Given the description of an element on the screen output the (x, y) to click on. 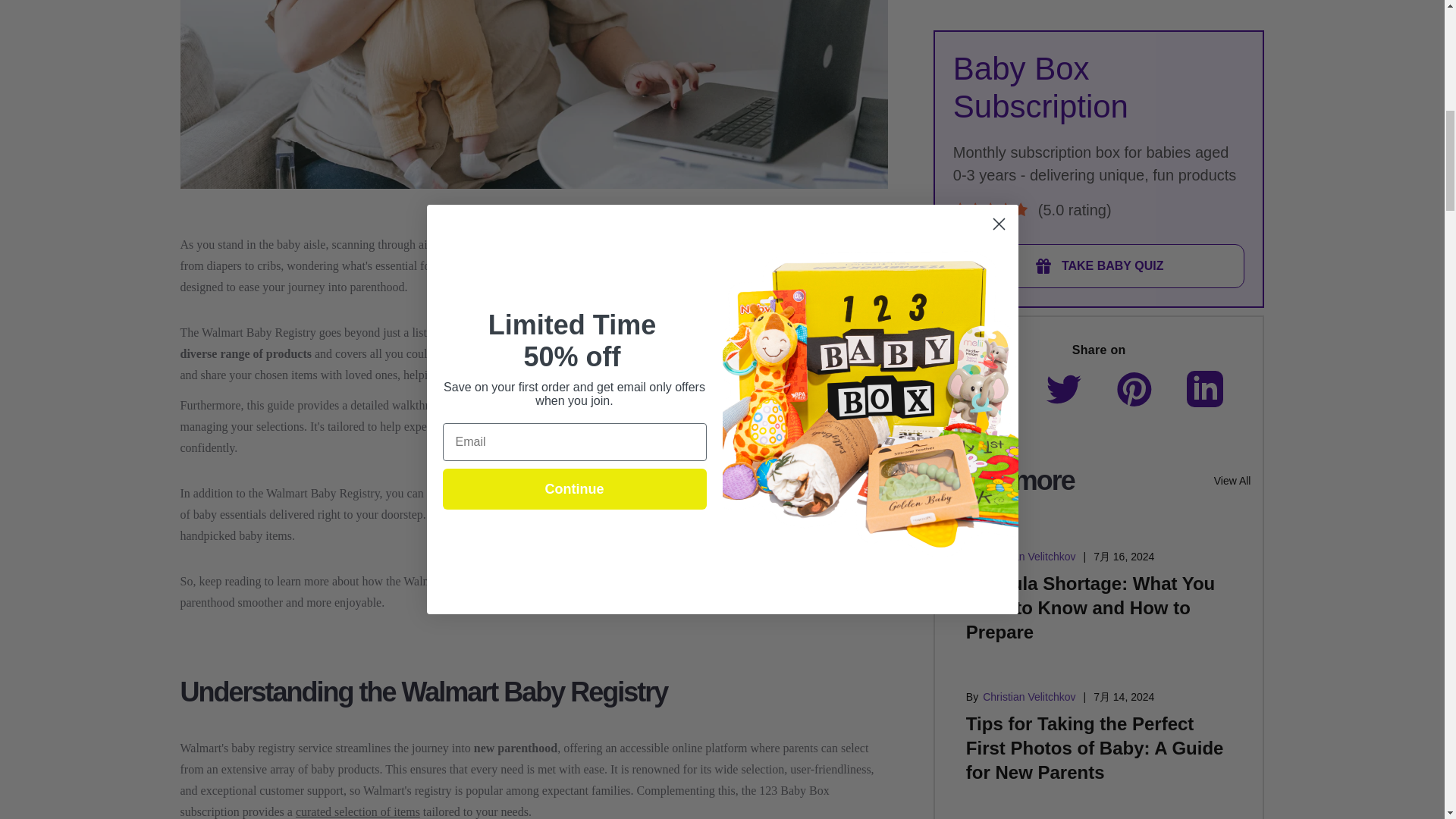
View All (1232, 167)
In-Home Daycare: How to Choose the Right Care for Your Child (1078, 574)
Formula Shortage: What You Need to Know and How to Prepare (1090, 294)
123 Baby Box (501, 492)
curated selection of items (357, 811)
